Given the description of an element on the screen output the (x, y) to click on. 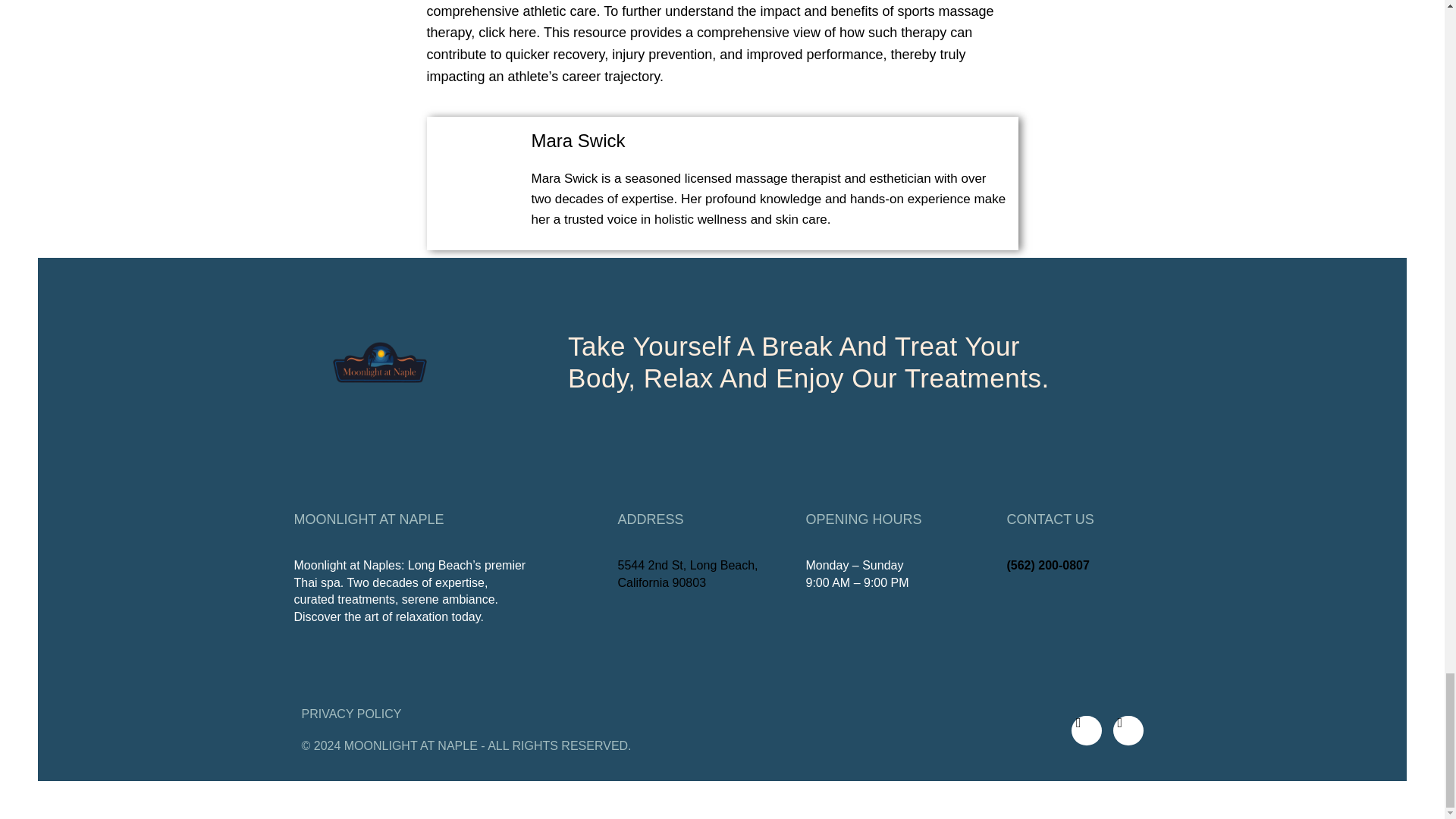
PRIVACY POLICY (351, 713)
click here (507, 32)
5544 2nd St, Long Beach, California 90803 (687, 573)
